Given the description of an element on the screen output the (x, y) to click on. 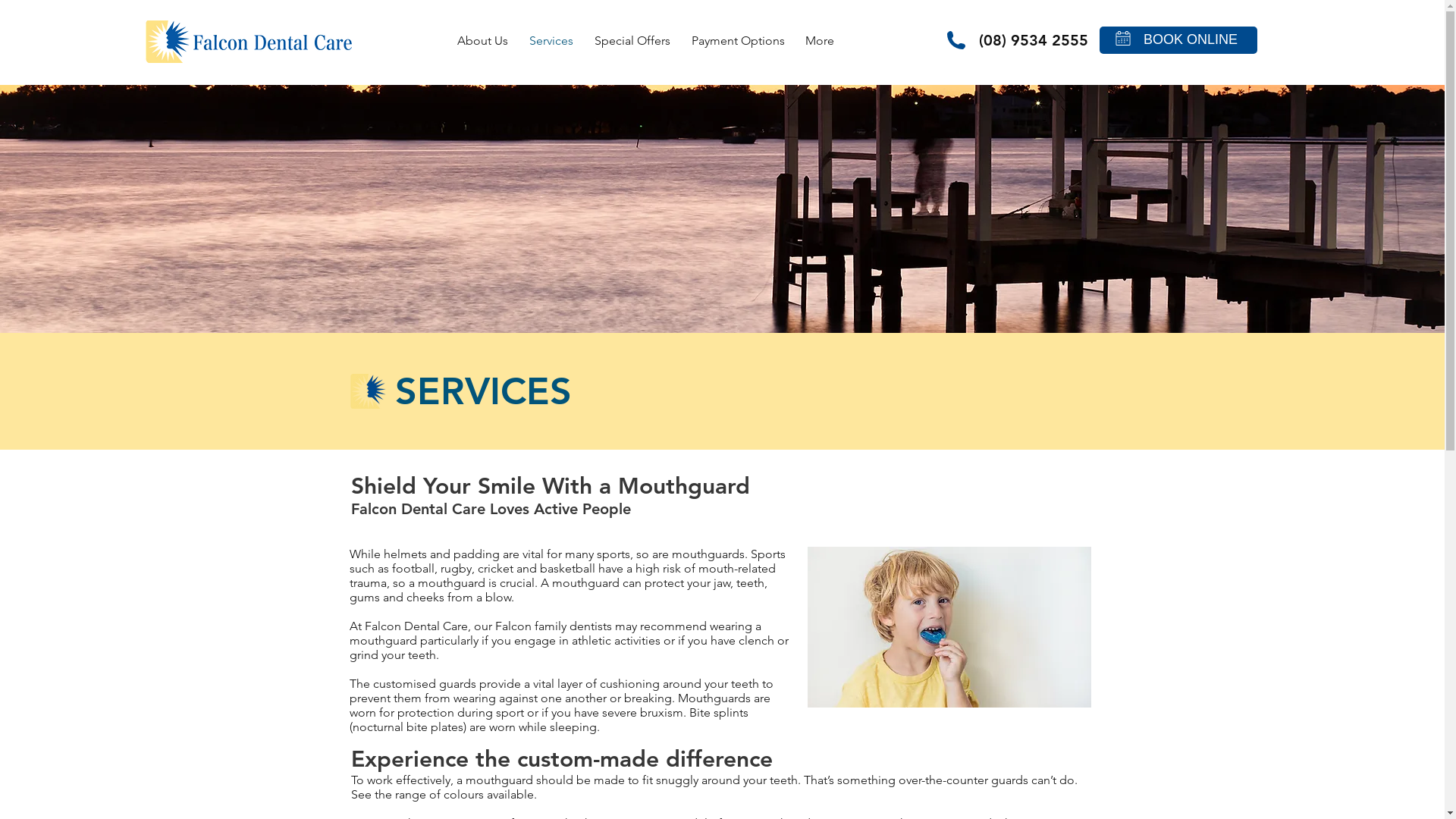
BOOK ONLINE Element type: text (1189, 39)
(08) 9534 2555 Element type: text (1032, 37)
(08) 9534 2555 Element type: text (1032, 40)
Special Offers Element type: text (631, 40)
Payment Options Element type: text (737, 40)
Services Element type: text (550, 40)
About Us Element type: text (481, 40)
